Given the description of an element on the screen output the (x, y) to click on. 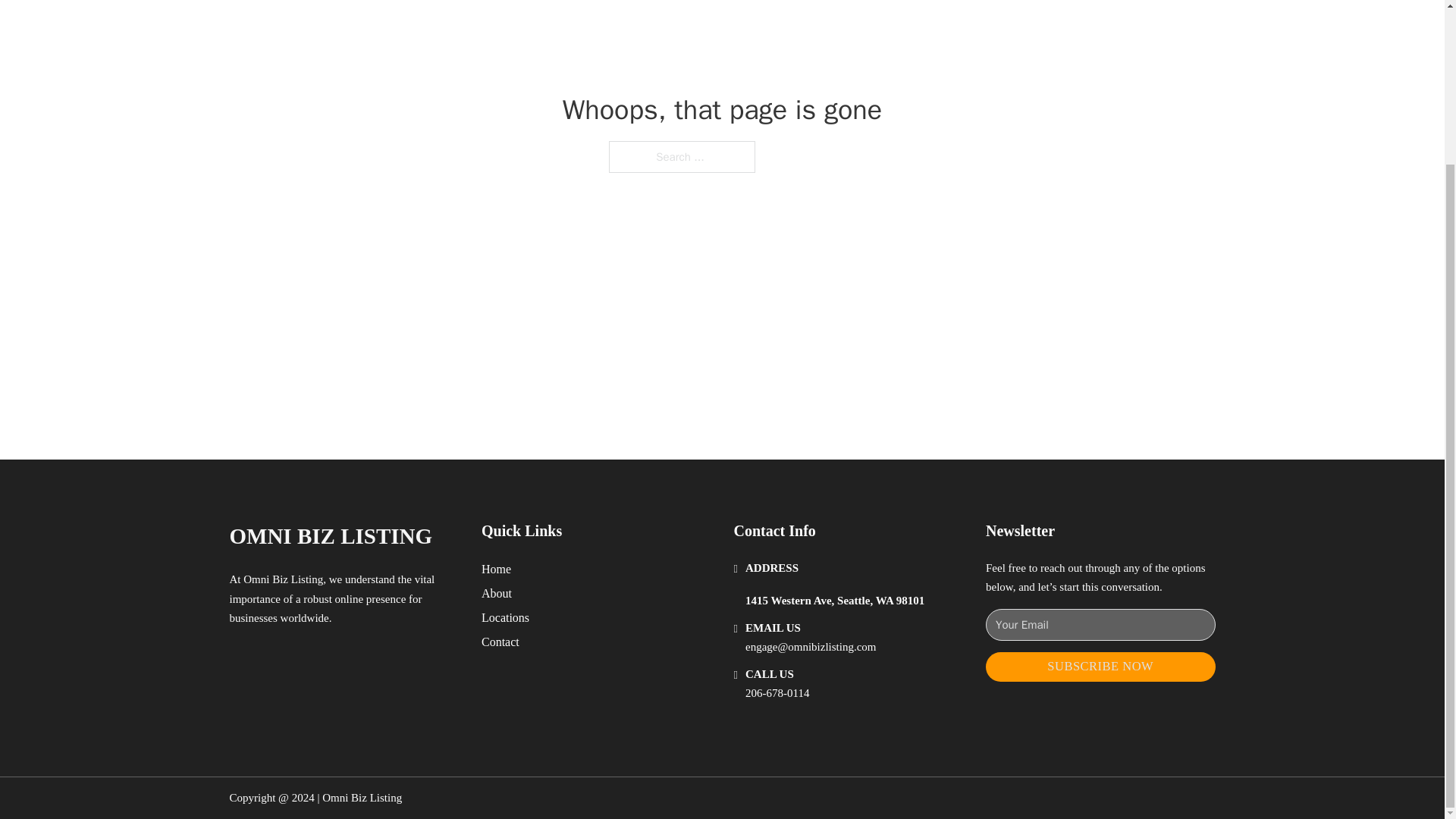
SUBSCRIBE NOW (1100, 666)
Locations (505, 617)
206-678-0114 (777, 693)
Contact (500, 641)
OMNI BIZ LISTING (330, 536)
About (496, 593)
Home (496, 568)
